Given the description of an element on the screen output the (x, y) to click on. 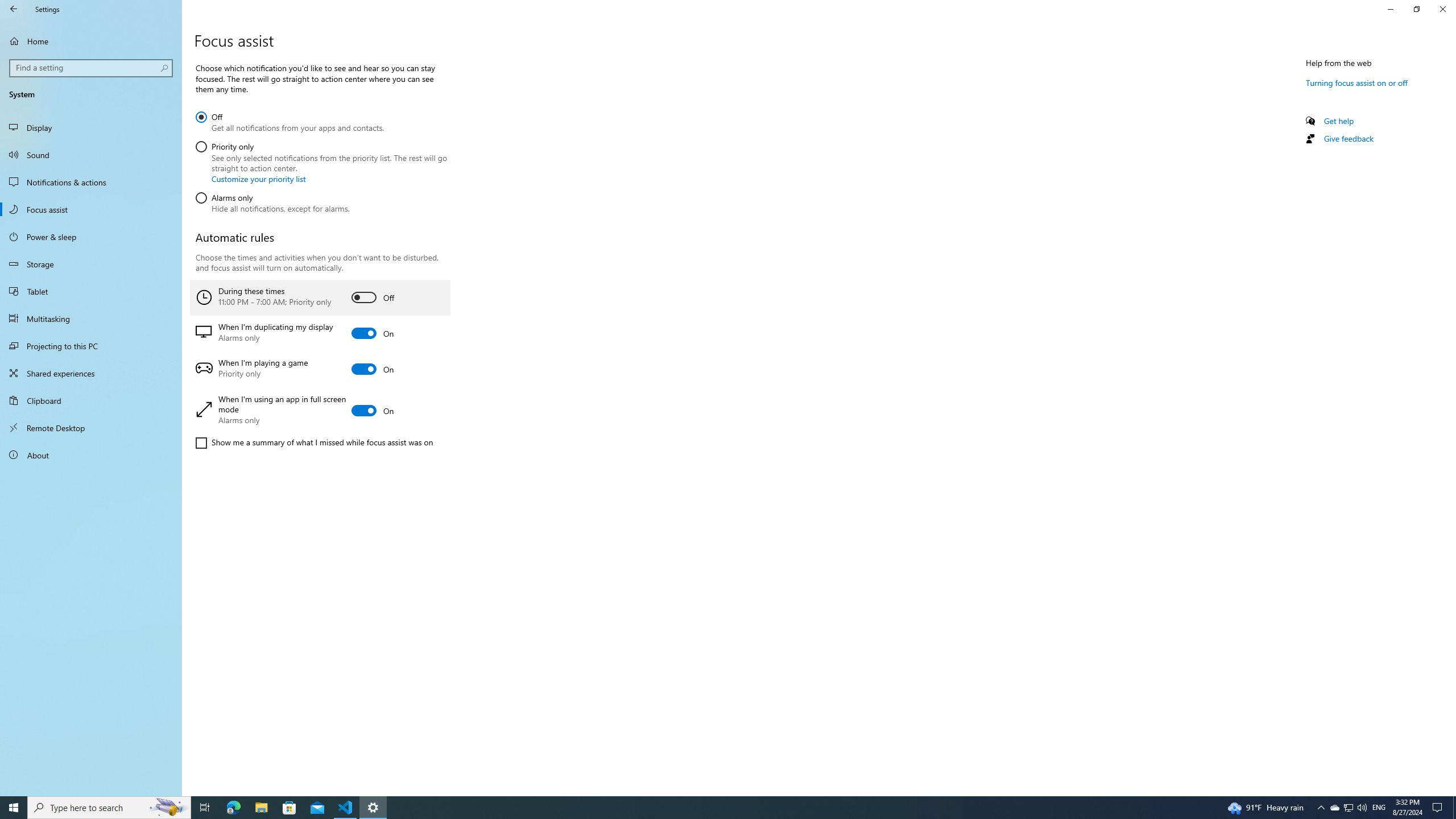
Minimize Settings (1390, 9)
Get help (1338, 120)
Notification Chevron (1320, 807)
Restore Settings (1416, 9)
When I'm using an app in full screen mode (319, 410)
Display (91, 126)
Off (289, 120)
Start (13, 807)
Microsoft Edge (233, 807)
Projecting to this PC (91, 345)
Close Settings (1442, 9)
When I'm playing a game (319, 369)
Multitasking (91, 318)
Back (13, 9)
Home (91, 40)
